Given the description of an element on the screen output the (x, y) to click on. 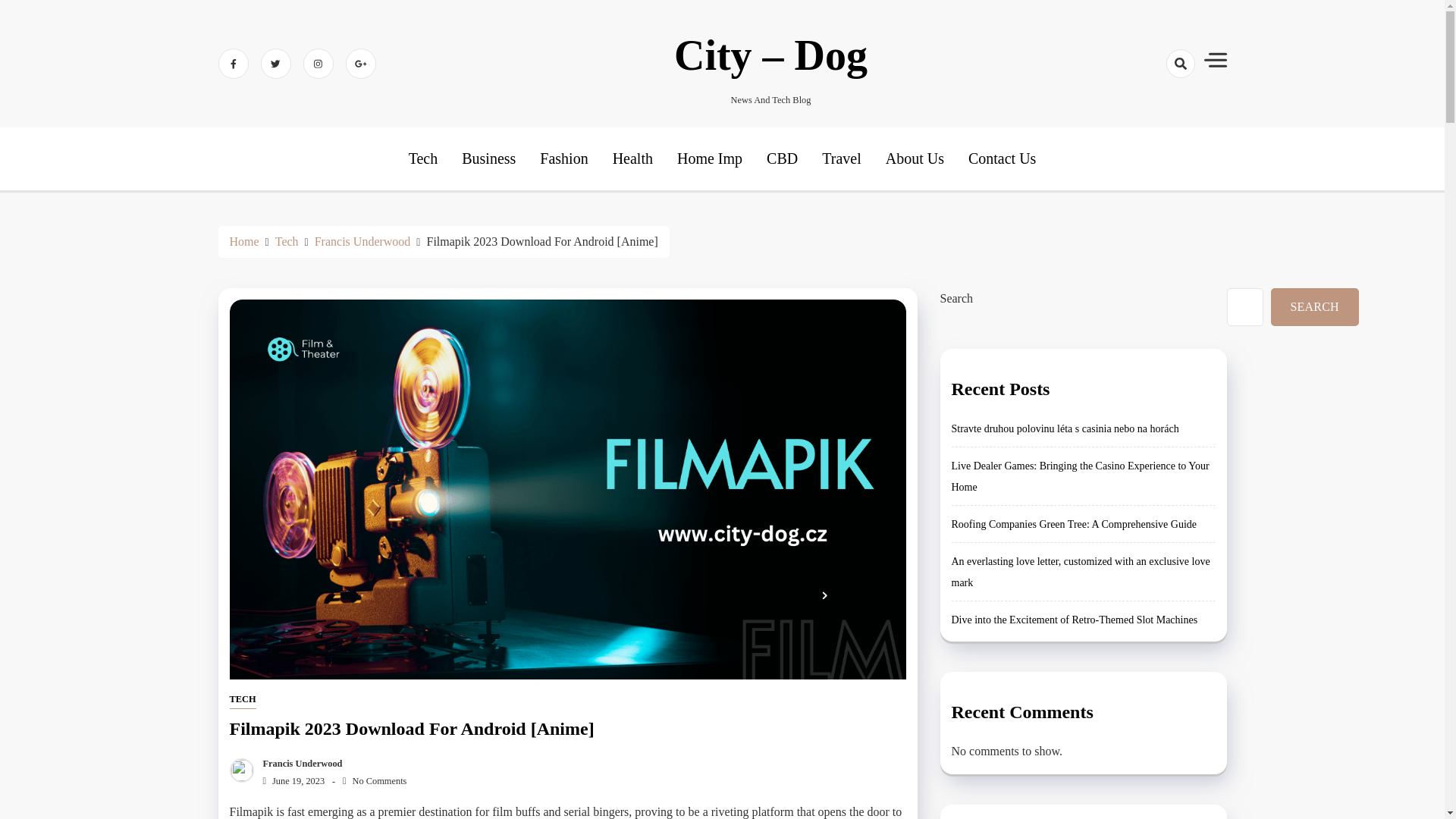
June 19, 2023 (290, 780)
Contact Us (1001, 158)
Tech (286, 241)
No Comments (374, 780)
TECH (242, 700)
Home (243, 241)
Search (1152, 117)
Francis Underwood (299, 763)
Home Imp (709, 158)
Francis Underwood (362, 241)
